Given the description of an element on the screen output the (x, y) to click on. 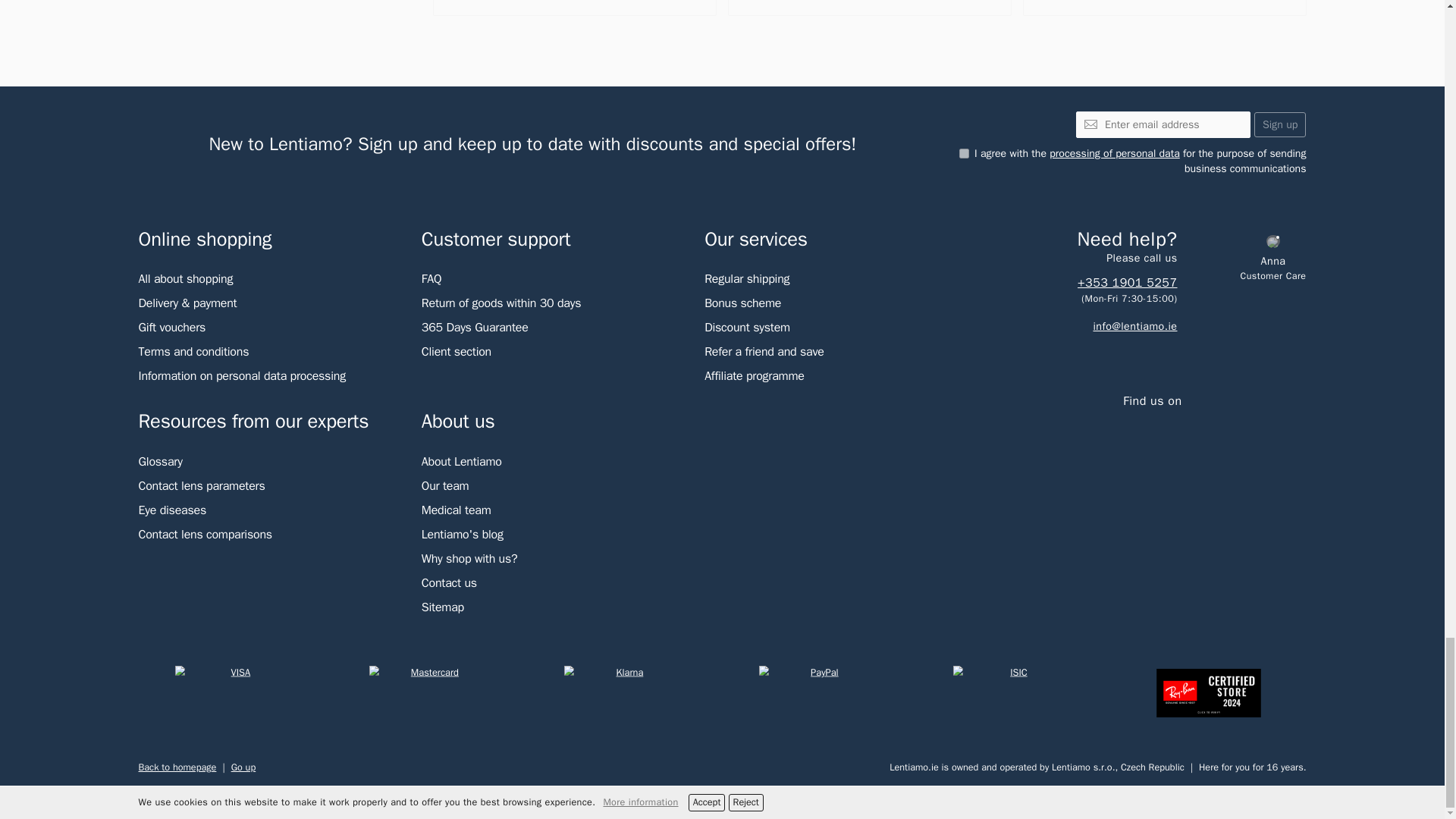
1 (964, 153)
